Given the description of an element on the screen output the (x, y) to click on. 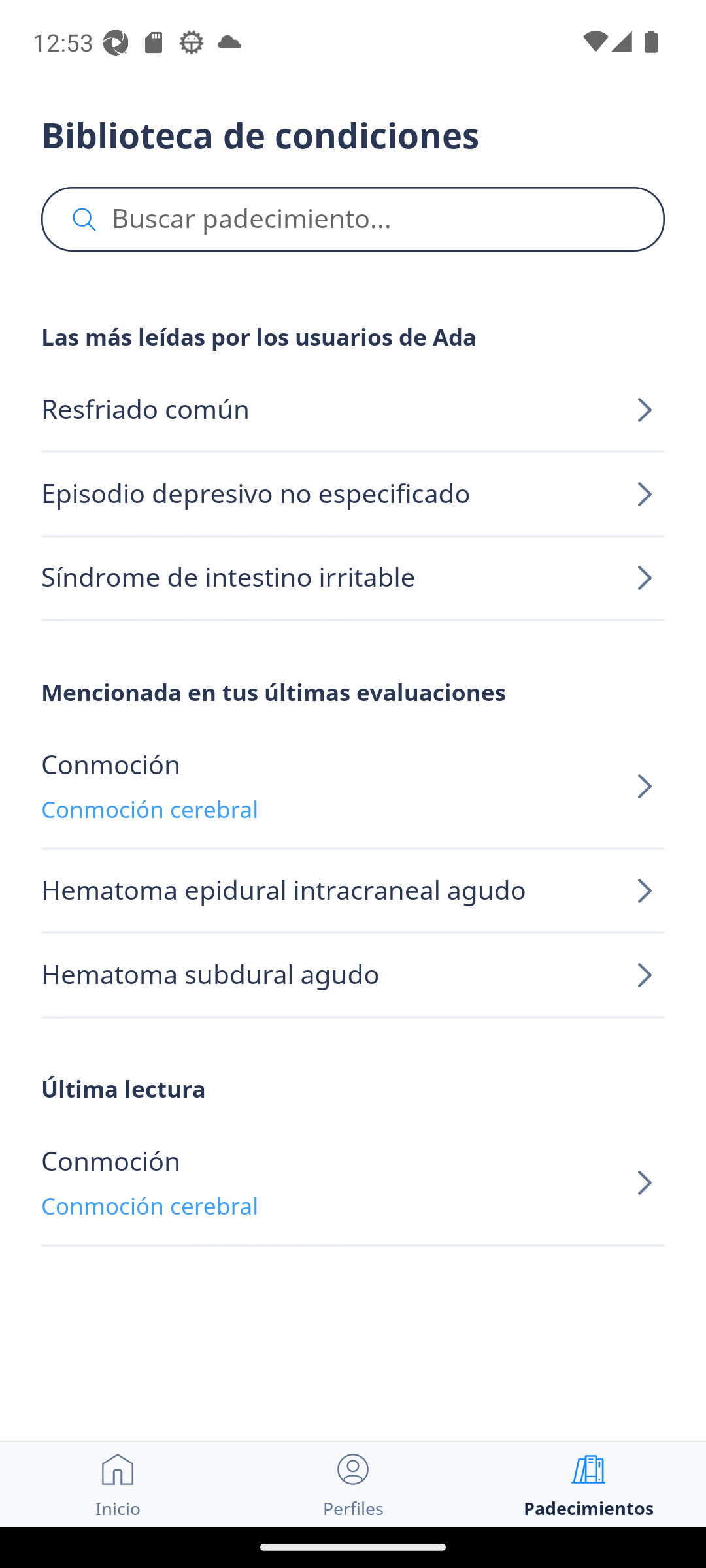
Buscar padecimiento... (352, 219)
Resfriado común (352, 409)
Episodio depresivo no especificado (352, 494)
Síndrome de intestino irritable (352, 578)
Conmoción Conmoción cerebral (352, 786)
Hematoma epidural intracraneal agudo (352, 890)
Hematoma subdural agudo (352, 974)
Conmoción Conmoción cerebral (352, 1183)
Inicio (117, 1484)
Perfiles (352, 1484)
Padecimientos (588, 1484)
